Given the description of an element on the screen output the (x, y) to click on. 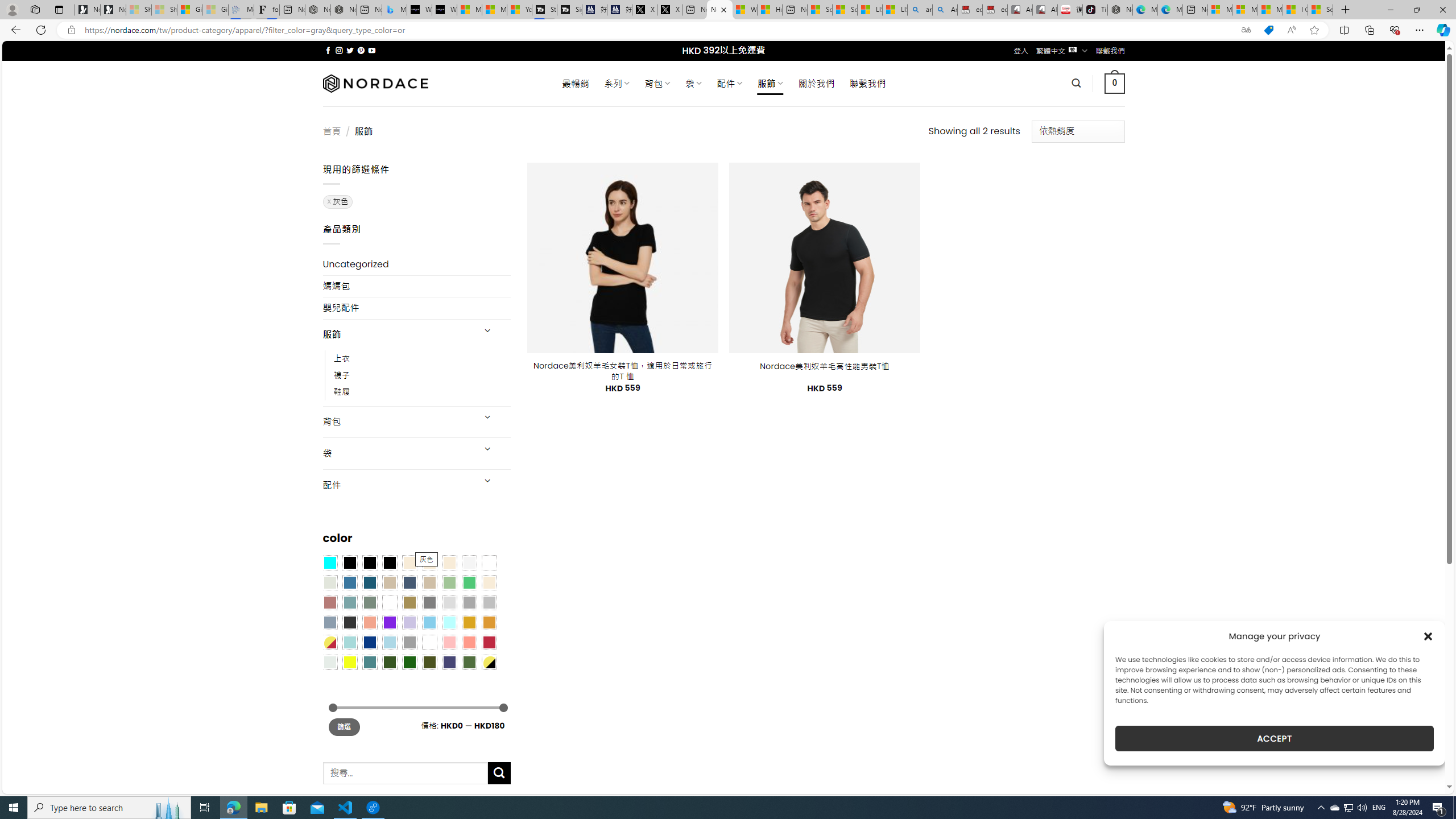
Dull Nickle (329, 662)
